Given the description of an element on the screen output the (x, y) to click on. 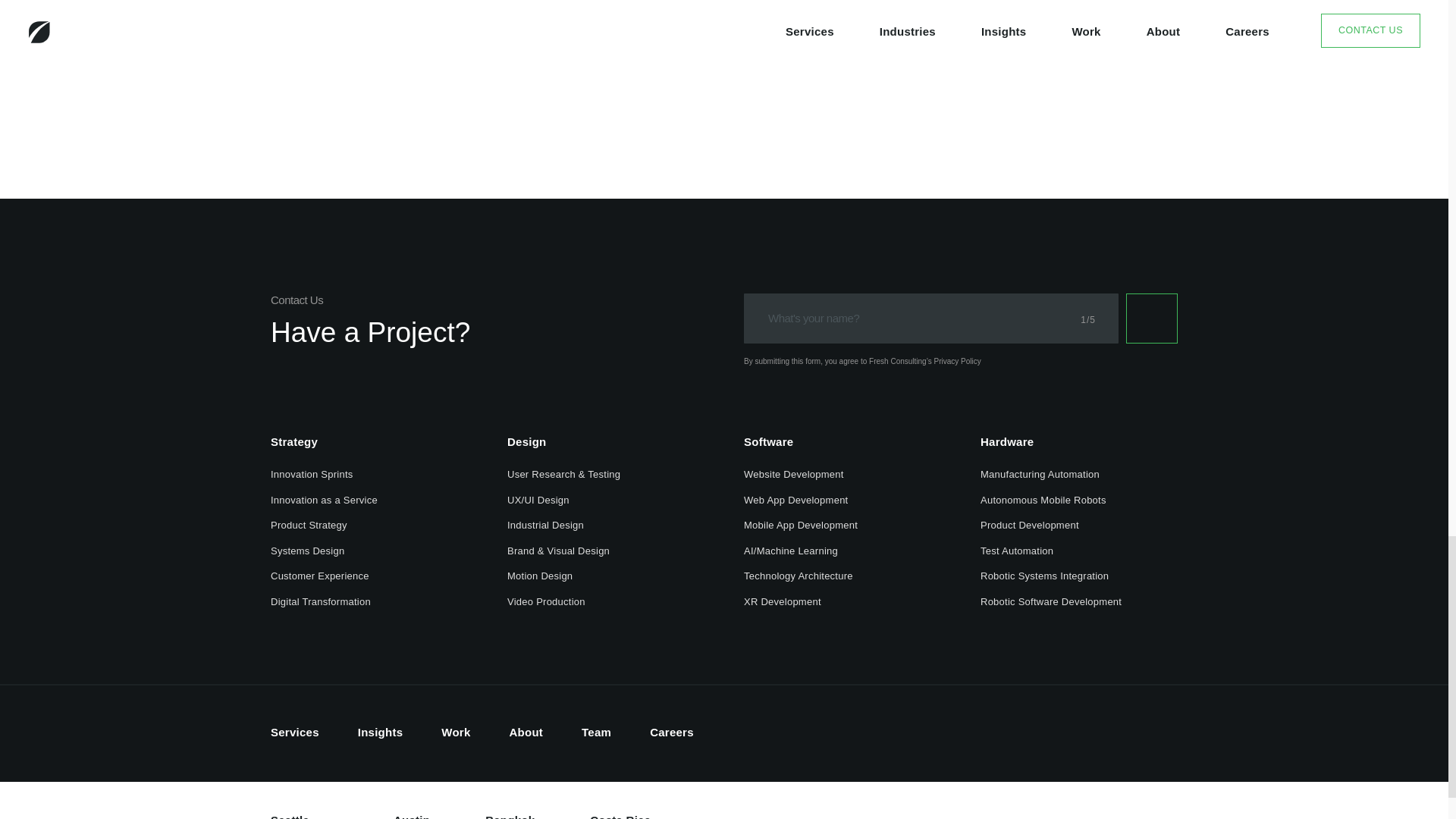
Mobile App Development (800, 527)
Motion Design (539, 578)
Product Strategy (308, 527)
Software (768, 444)
Industrial Design (544, 527)
Website Development (794, 476)
Digital Transformation (320, 603)
Customer Experience (319, 578)
Strategy (293, 444)
Video Production (545, 603)
